Given the description of an element on the screen output the (x, y) to click on. 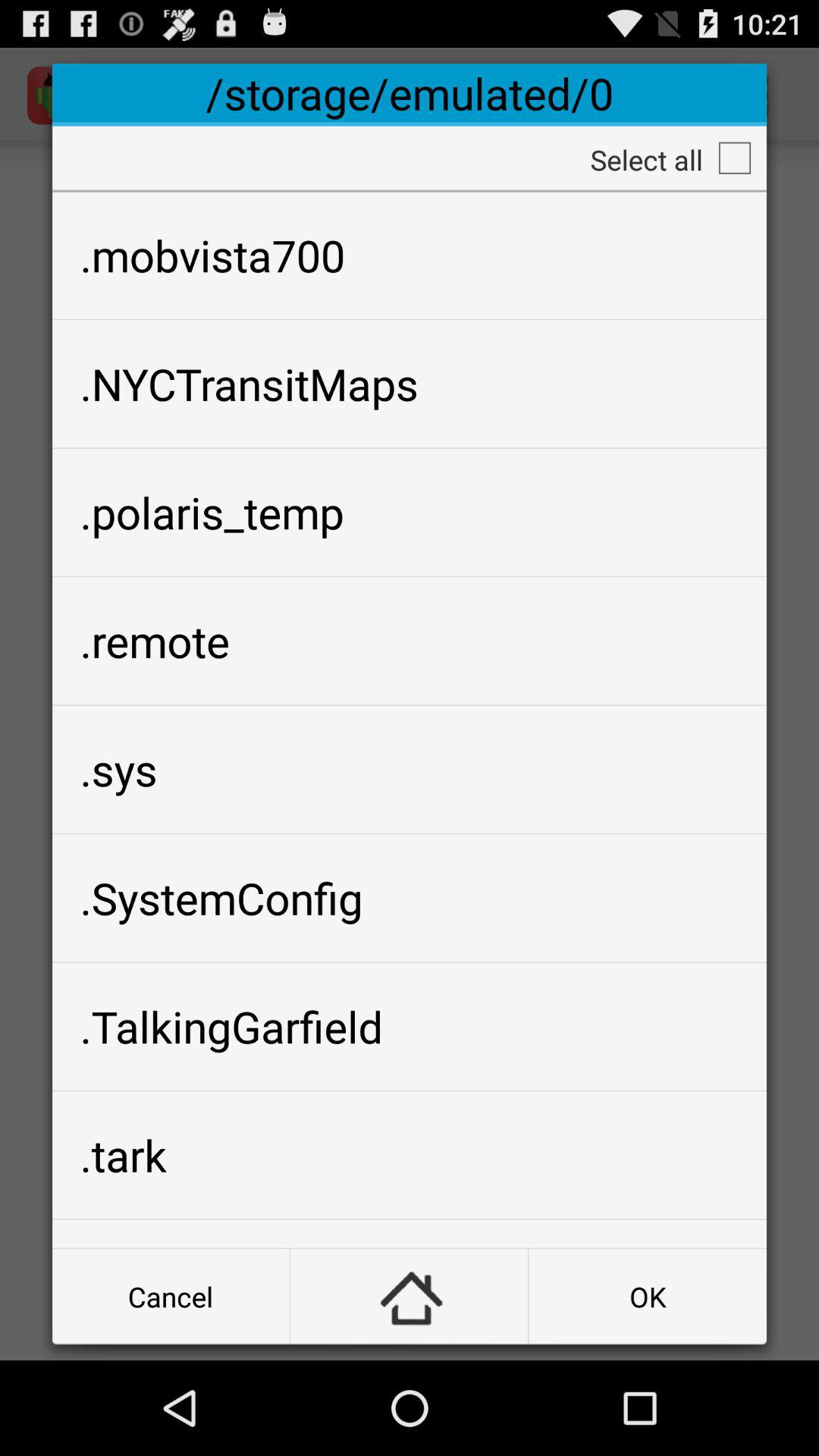
tap the icon below .transportext app (408, 1296)
